Given the description of an element on the screen output the (x, y) to click on. 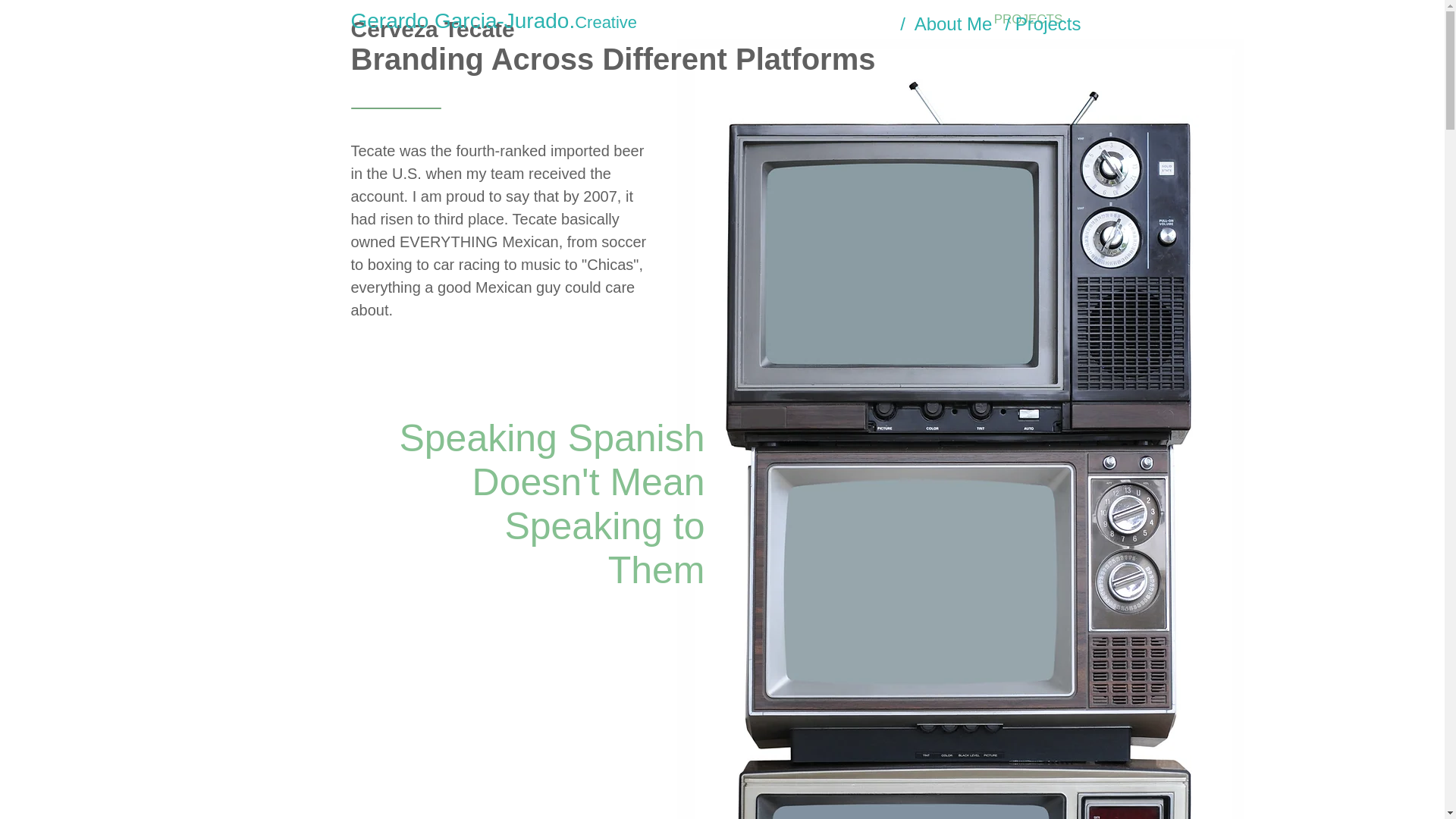
About Me (953, 24)
PROJECTS (1027, 19)
Gerardo Garcia-Jurado.Creative (493, 20)
External YouTube (909, 807)
External YouTube (921, 580)
External YouTube (898, 266)
